Given the description of an element on the screen output the (x, y) to click on. 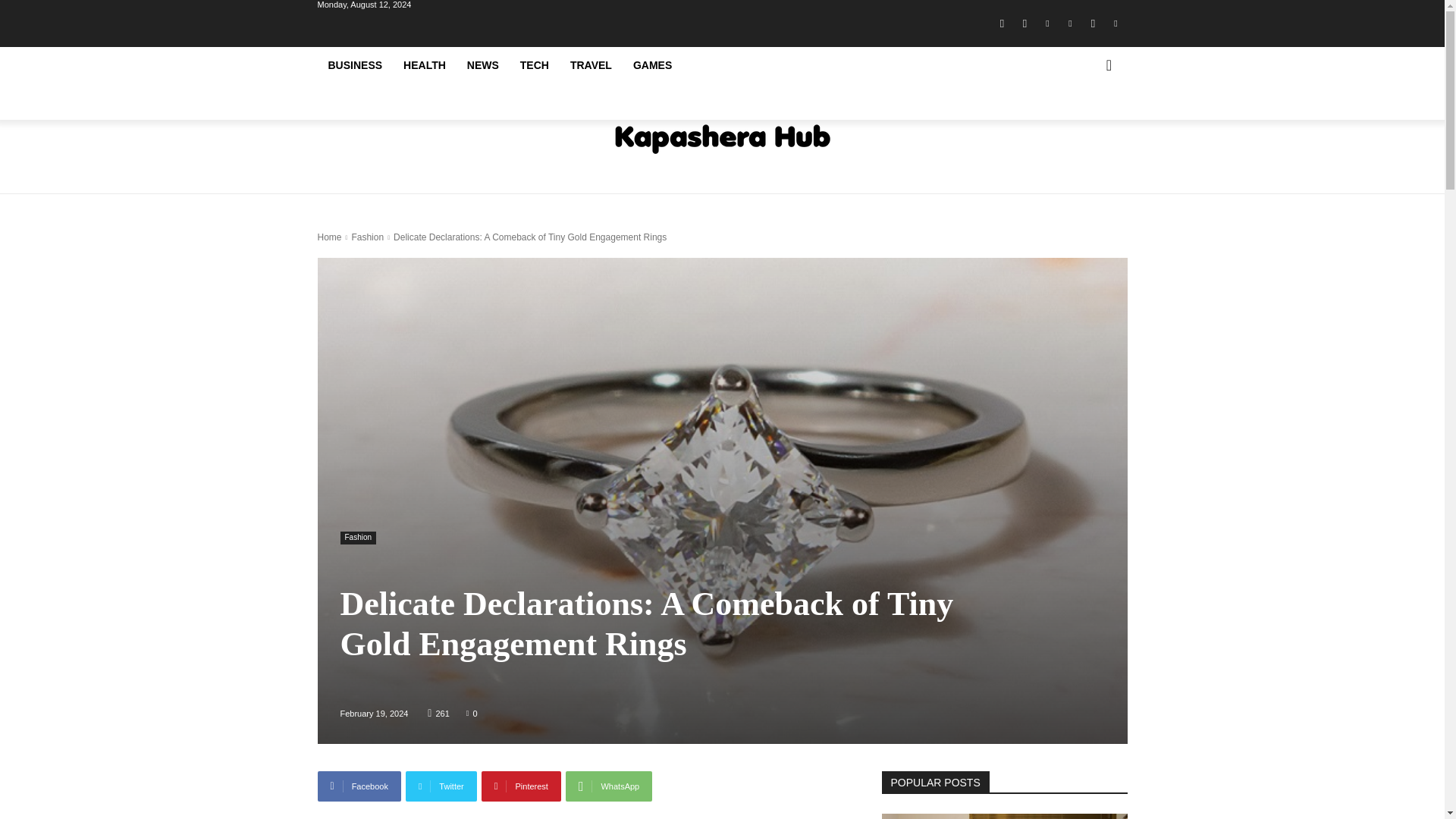
GAMES (652, 64)
Twitter (1114, 23)
Home (328, 236)
Facebook (1001, 23)
Twitter (441, 786)
BUSINESS (355, 64)
0 (471, 712)
Fashion (367, 236)
NEWS (483, 64)
HEALTH (425, 64)
